Given the description of an element on the screen output the (x, y) to click on. 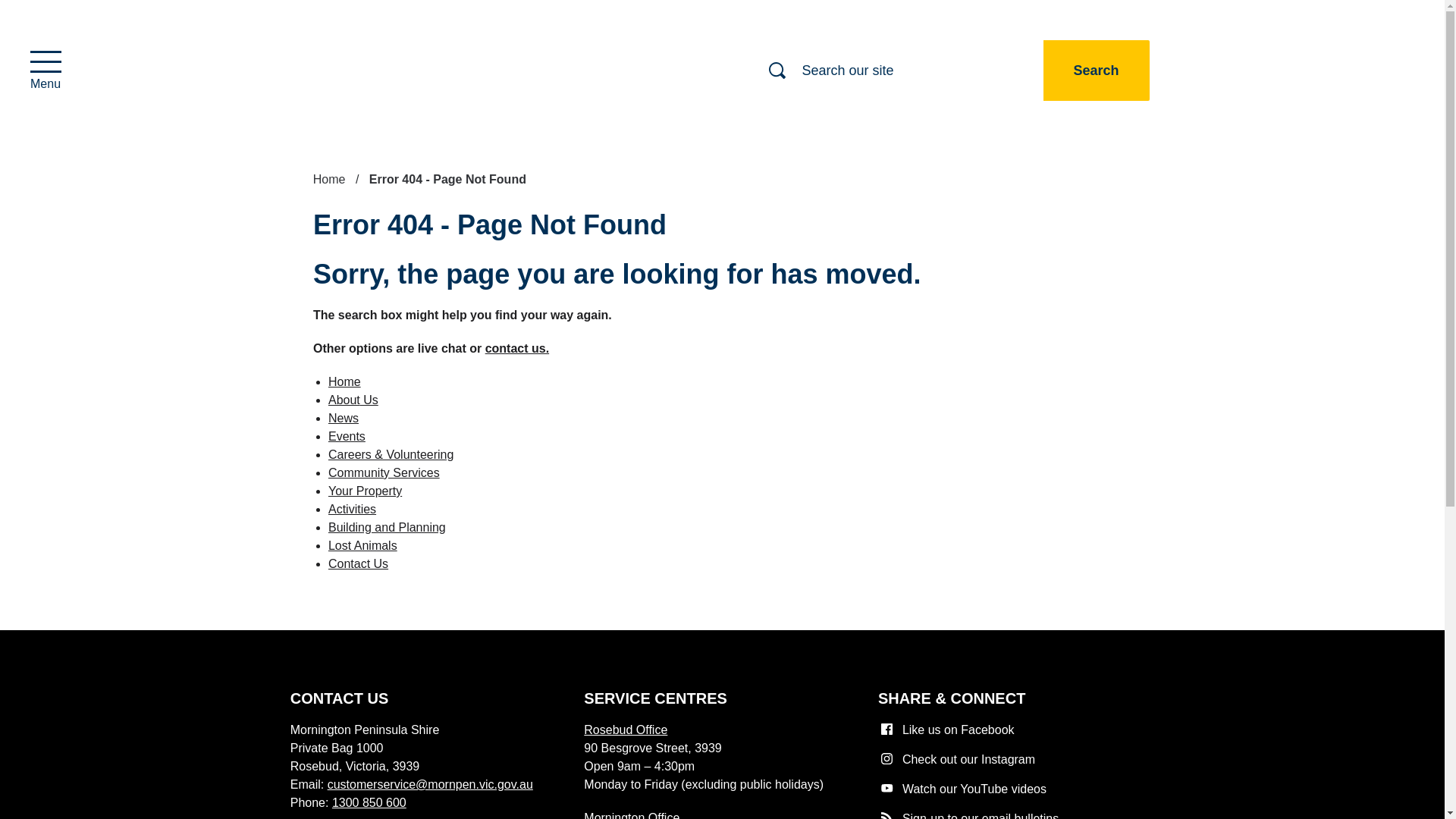
Activities (352, 508)
Home (345, 381)
Search (1096, 70)
Mornington Peninsula Shire - Home - Logo (342, 69)
Community Services (44, 68)
Search (384, 472)
Your Property (1096, 70)
Search (365, 490)
Lost Animals (1096, 70)
